Given the description of an element on the screen output the (x, y) to click on. 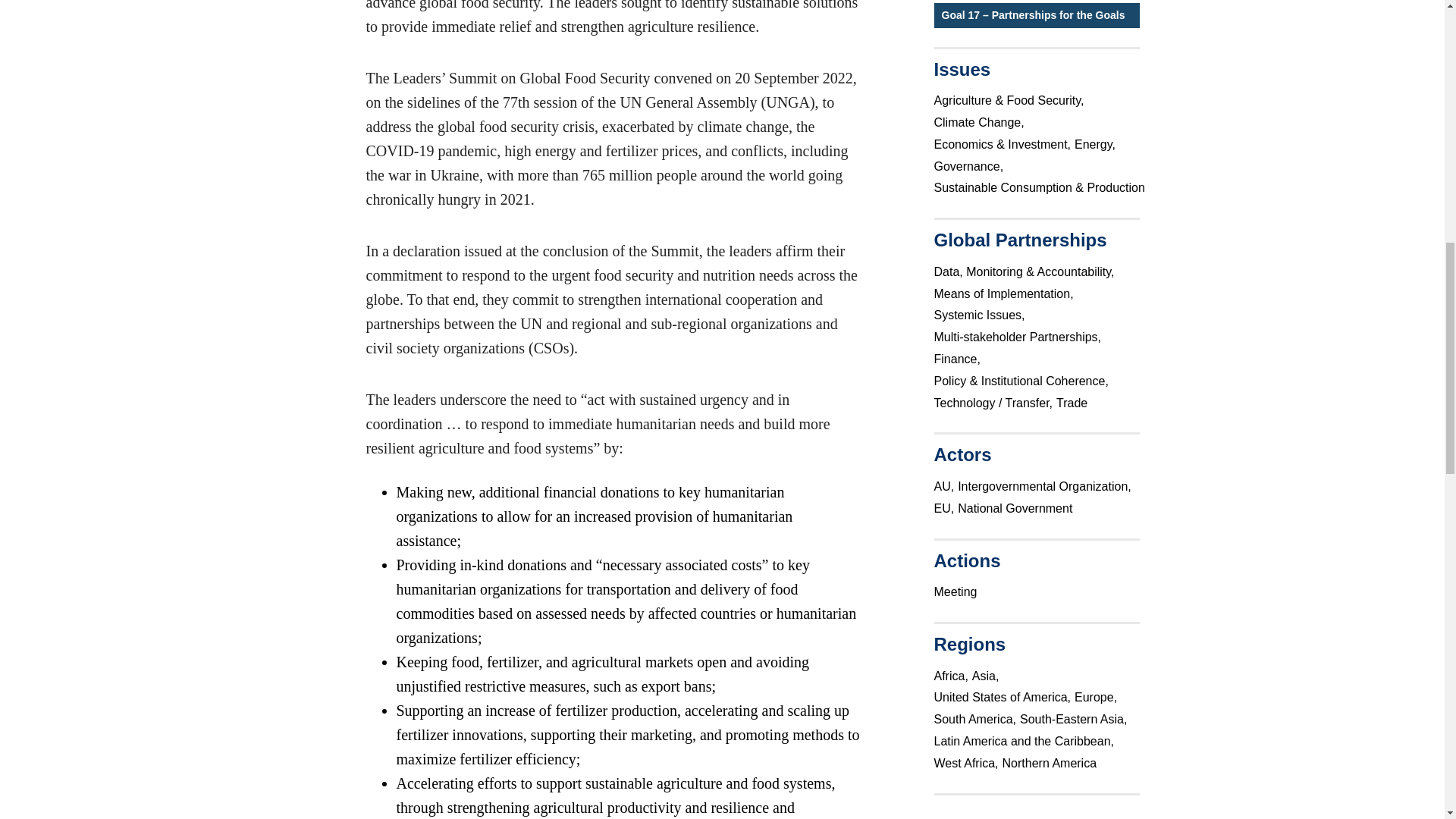
Climate Change, (980, 121)
Multi-stakeholder Partnerships, (1019, 336)
Finance, (959, 358)
Means of Implementation, (1005, 293)
Systemic Issues, (981, 314)
Governance, (970, 165)
Energy, (1096, 143)
